Given the description of an element on the screen output the (x, y) to click on. 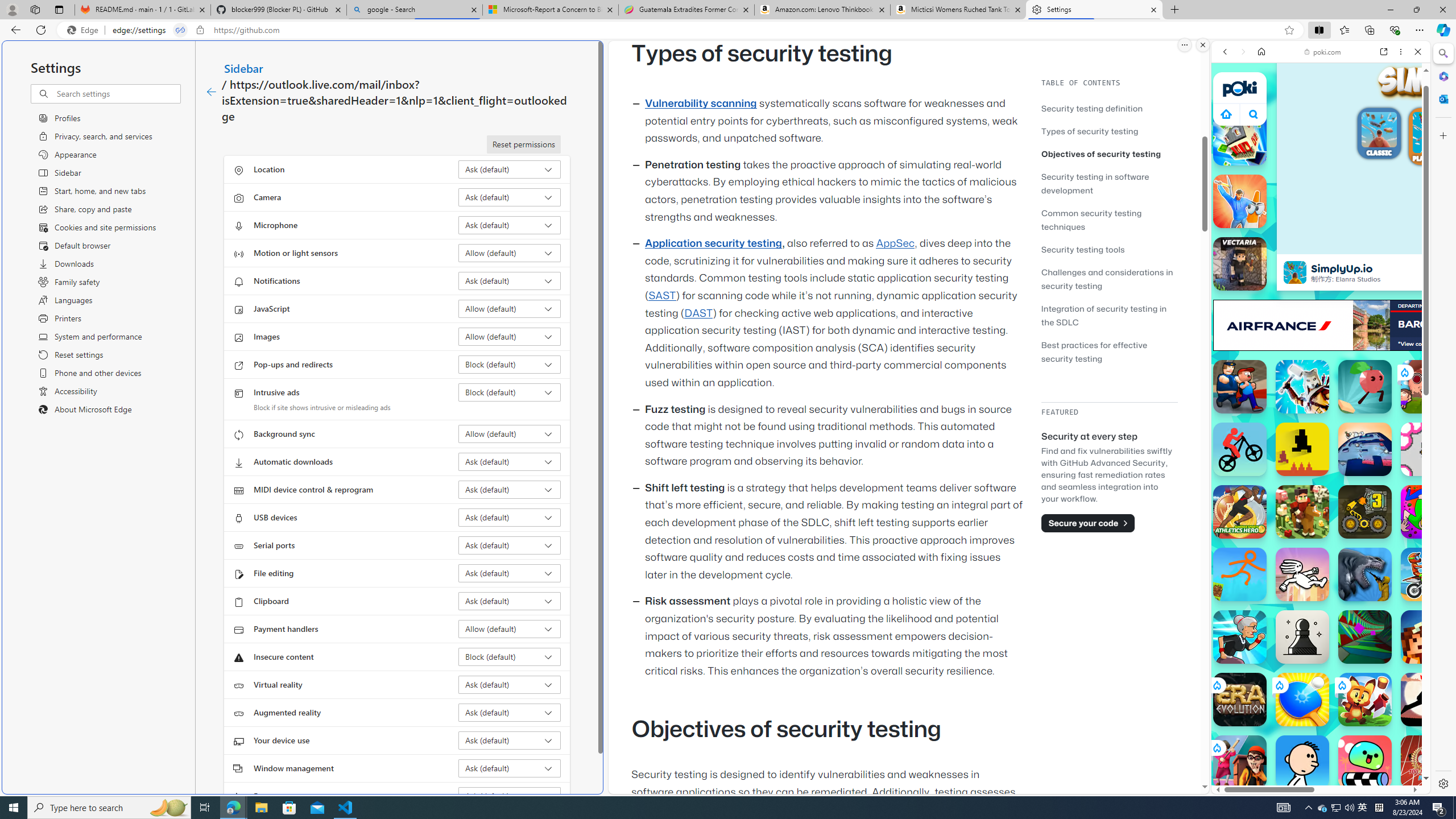
Into the Pit (1427, 448)
Dreadhead Parkour (1302, 574)
Security testing tools (1083, 248)
Augmented reality Ask (default) (509, 712)
Global web icon (1232, 755)
Your device use Ask (default) (509, 740)
Dreadhead Parkour Dreadhead Parkour (1302, 574)
Show More Shooting Games (1390, 296)
Into the Pit Into the Pit (1427, 448)
